Given the description of an element on the screen output the (x, y) to click on. 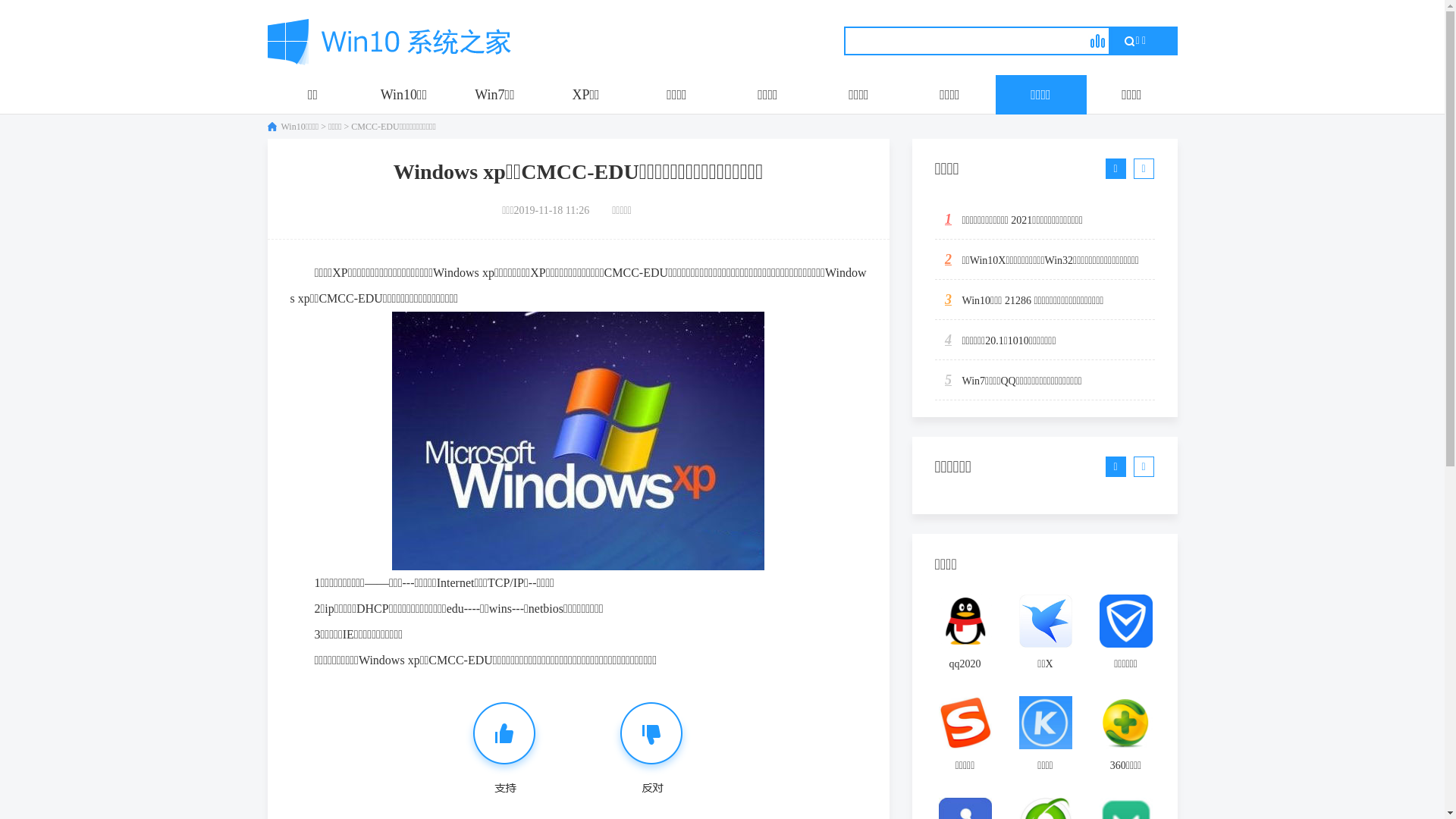
qq2020 Element type: text (964, 637)
